Given the description of an element on the screen output the (x, y) to click on. 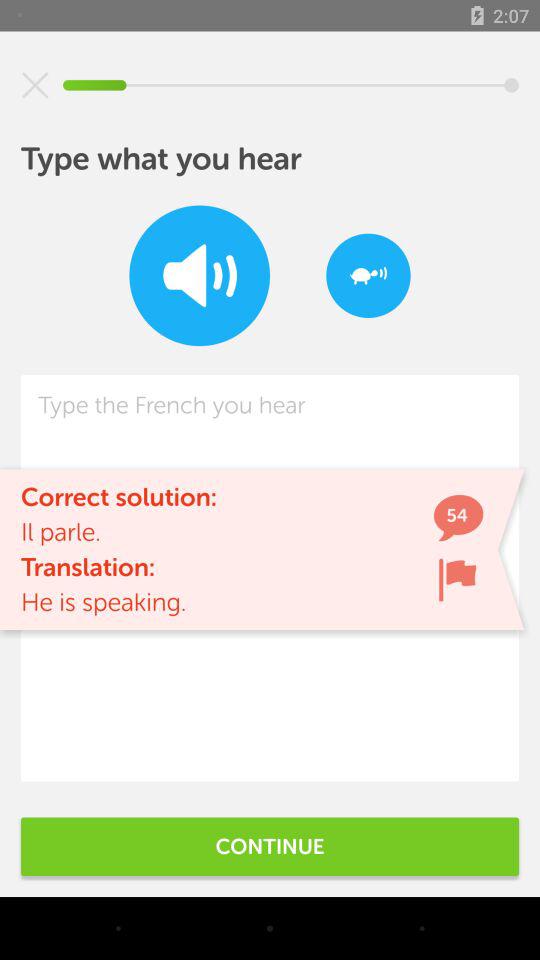
select the item at the top left corner (35, 85)
